Given the description of an element on the screen output the (x, y) to click on. 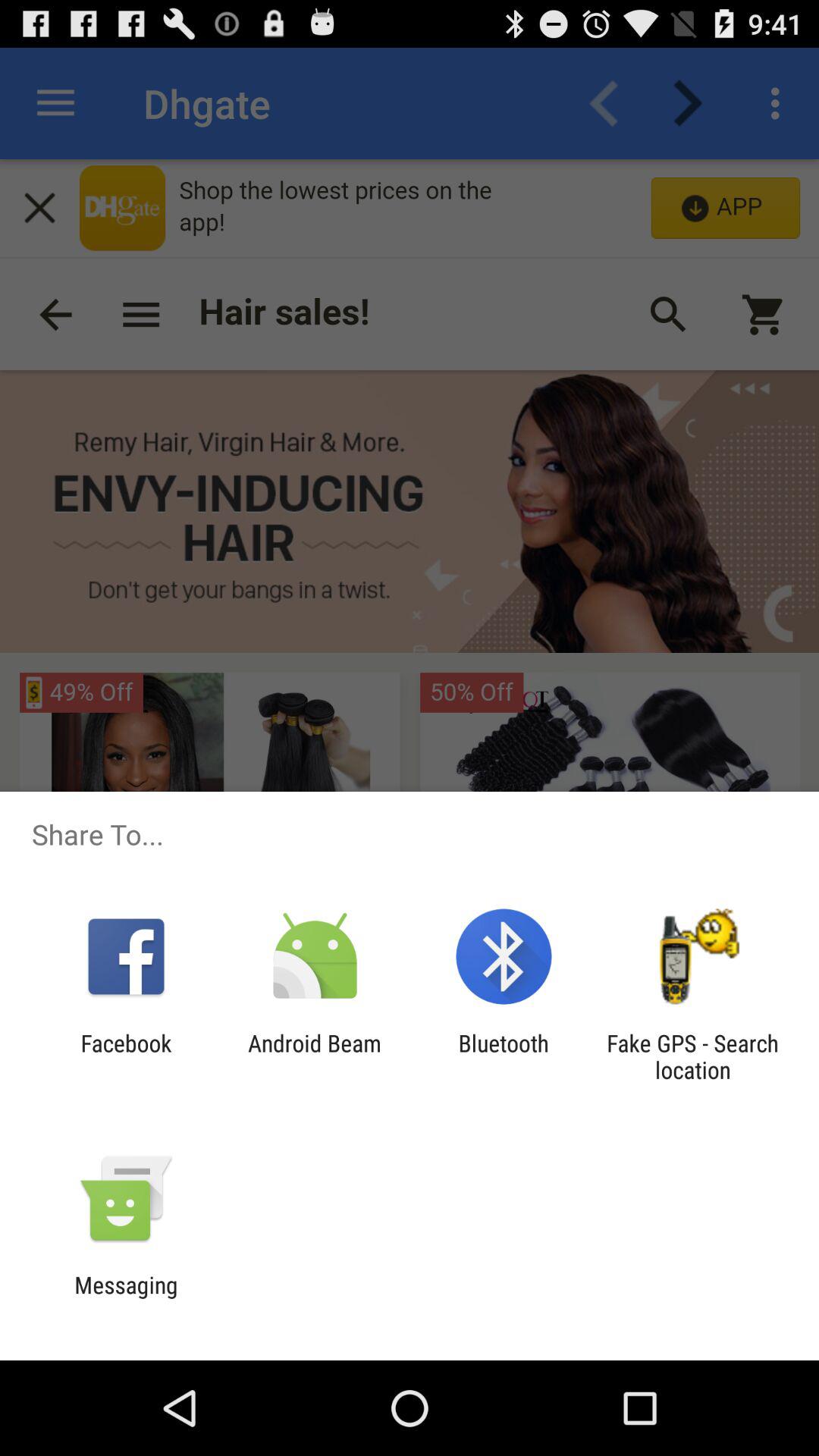
choose item next to the android beam (125, 1056)
